Given the description of an element on the screen output the (x, y) to click on. 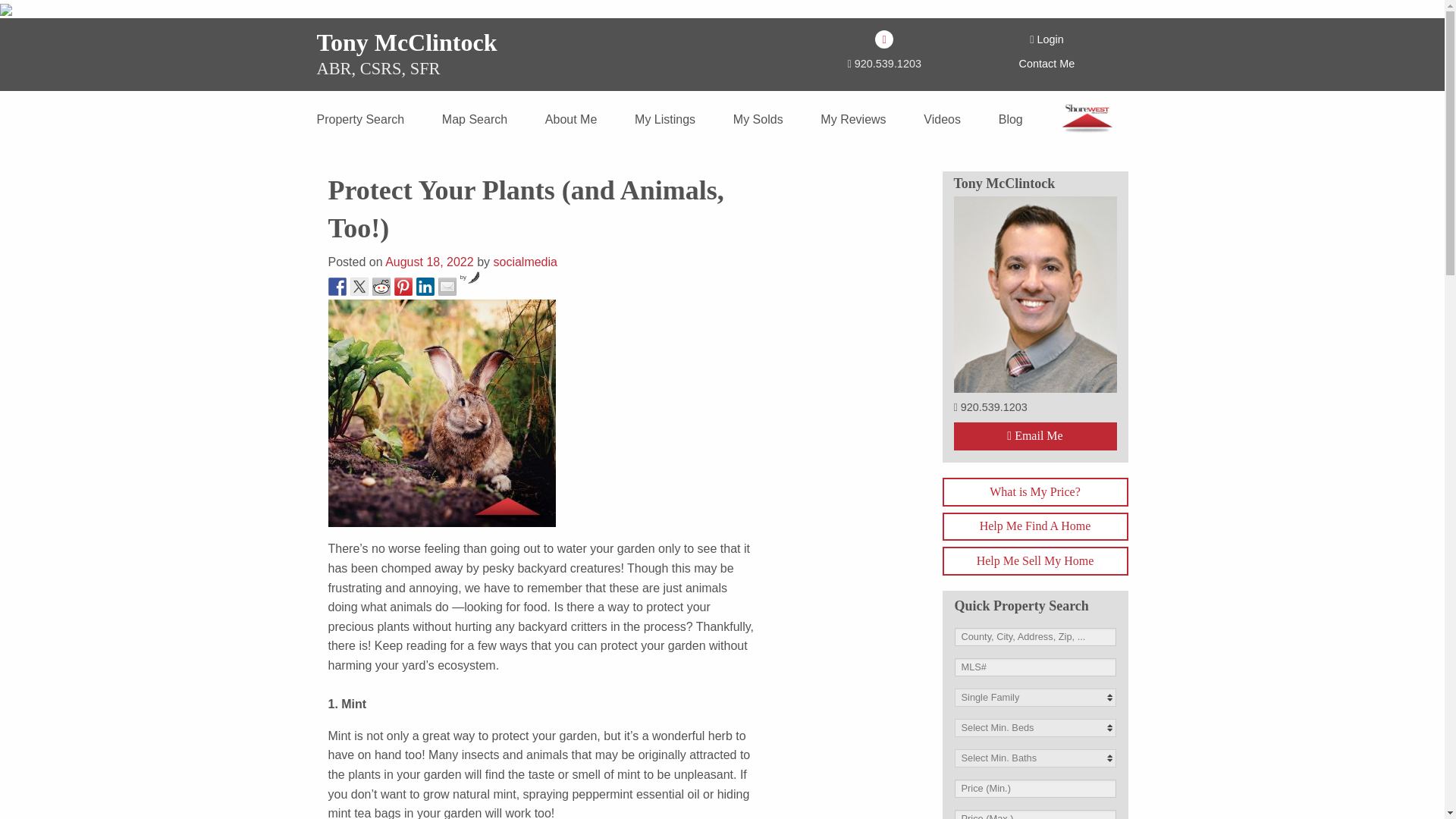
Tony McClintock (407, 42)
Login (1045, 39)
Property Search (360, 118)
Share on Linkedin (423, 286)
What is My Price? (1034, 491)
About Me (570, 118)
Share on Reddit (380, 286)
Contact Me (1047, 63)
socialmedia (524, 261)
My Listings (664, 118)
9:19 am (429, 261)
Map Search (474, 118)
Pin it with Pinterest (403, 286)
Share on Facebook (336, 286)
View all posts by socialmedia (524, 261)
